Given the description of an element on the screen output the (x, y) to click on. 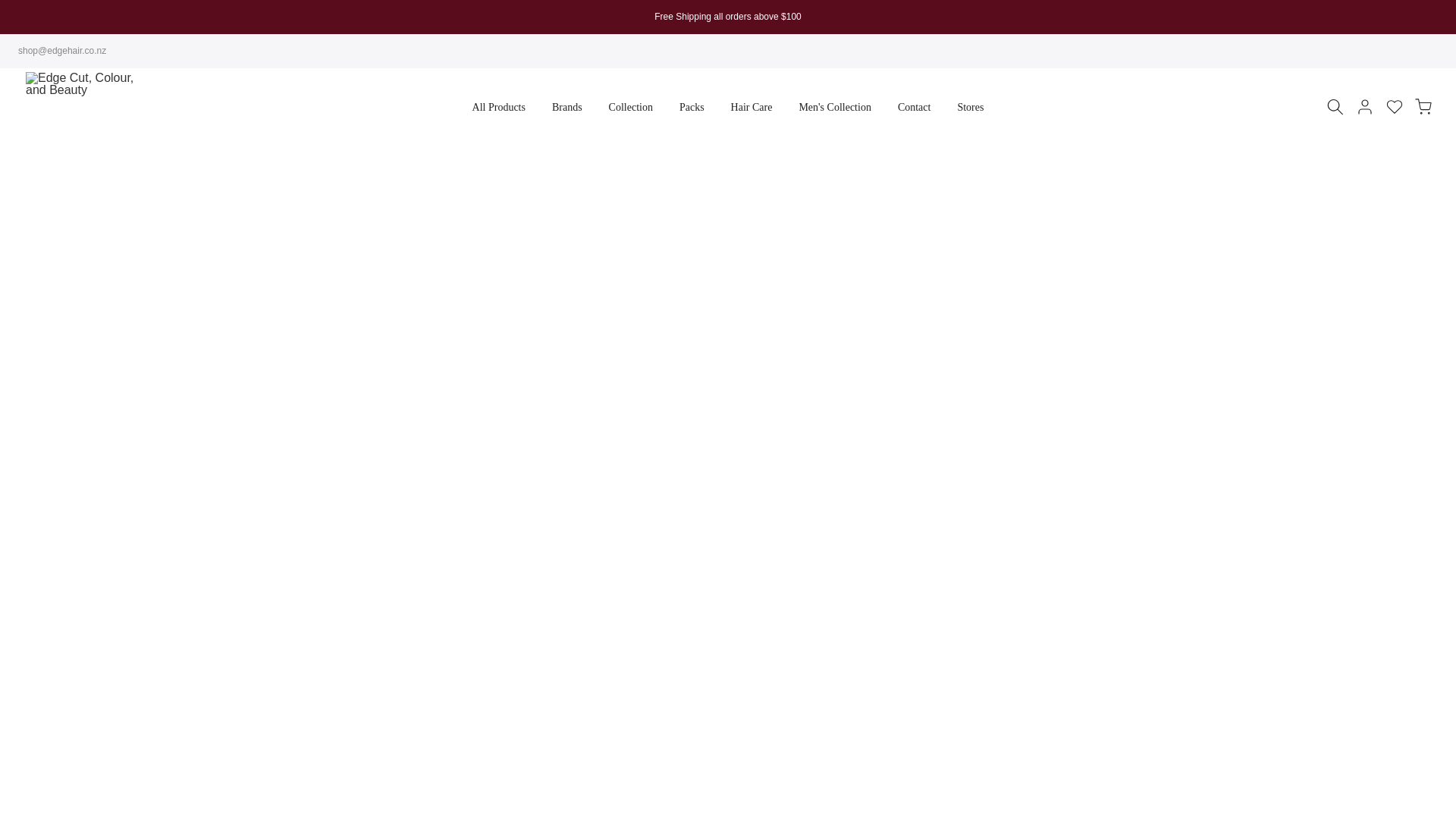
Brands (566, 107)
Collection (630, 107)
Stores (970, 107)
Men's Collection (834, 107)
Skip to content (10, 7)
All Products (498, 107)
Contact (913, 107)
Hair Care (751, 107)
Packs (691, 107)
